Given the description of an element on the screen output the (x, y) to click on. 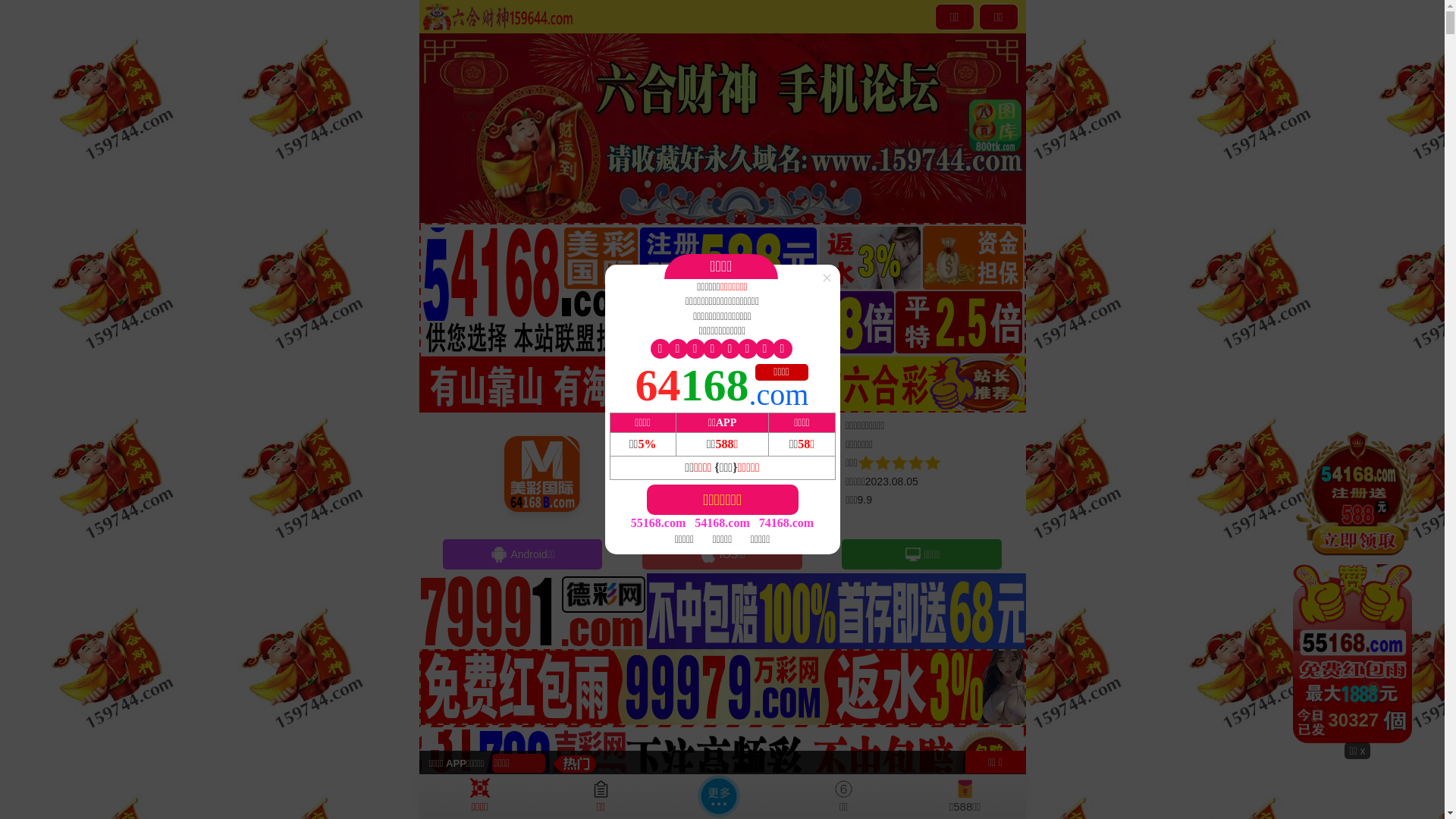
30512 Element type: text (1356, 585)
